Given the description of an element on the screen output the (x, y) to click on. 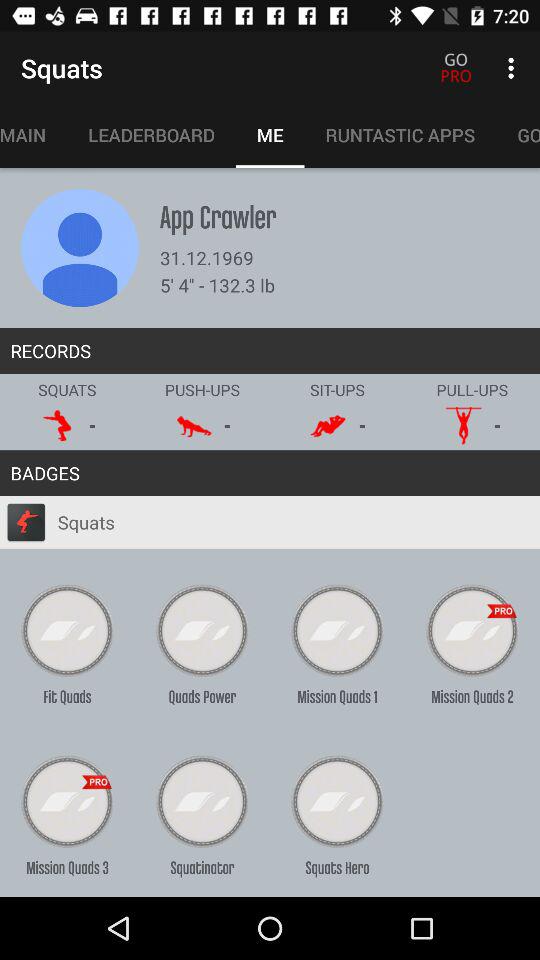
turn on runtastic apps item (400, 135)
